Given the description of an element on the screen output the (x, y) to click on. 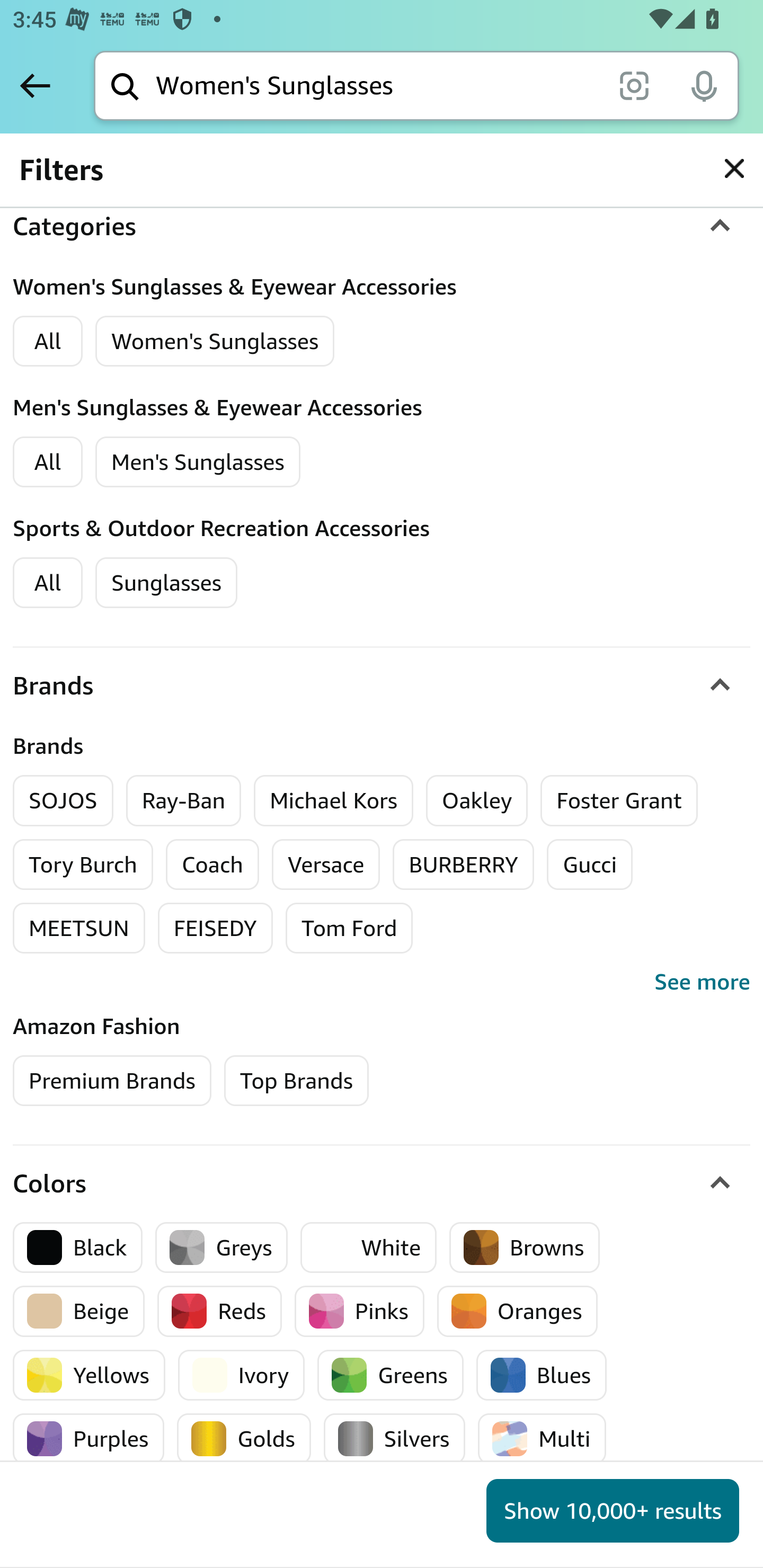
Back (35, 85)
scan it (633, 85)
Categories (381, 226)
All (47, 340)
Women's Sunglasses (215, 340)
WearMe Pro (260, 335)
All (47, 461)
Men's Sunglasses (197, 461)
All (47, 582)
Sunglasses (166, 582)
Brands (381, 685)
SOJOS (63, 800)
Ray-Ban (183, 800)
Michael Kors (332, 800)
Oakley (476, 800)
Foster Grant (619, 800)
